Given the description of an element on the screen output the (x, y) to click on. 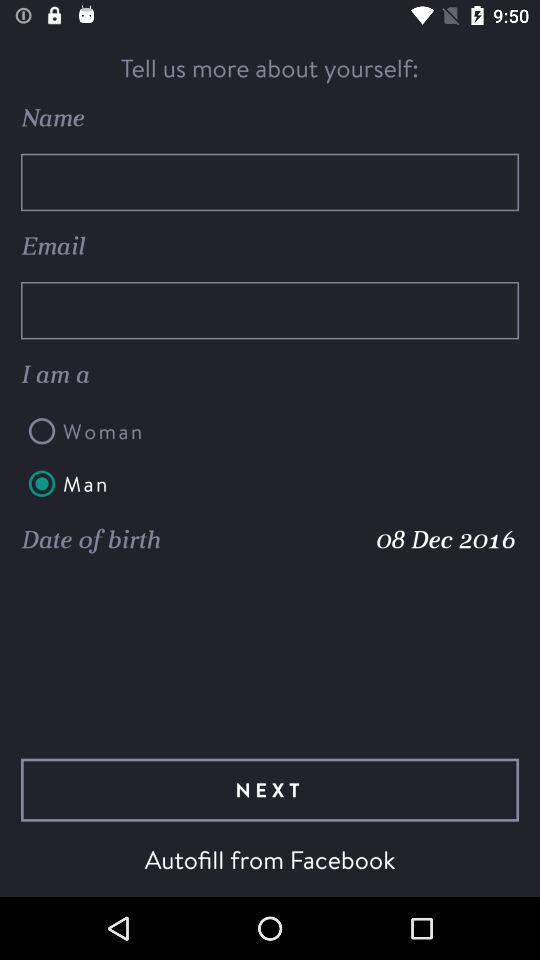
open autofill from facebook (270, 859)
